Given the description of an element on the screen output the (x, y) to click on. 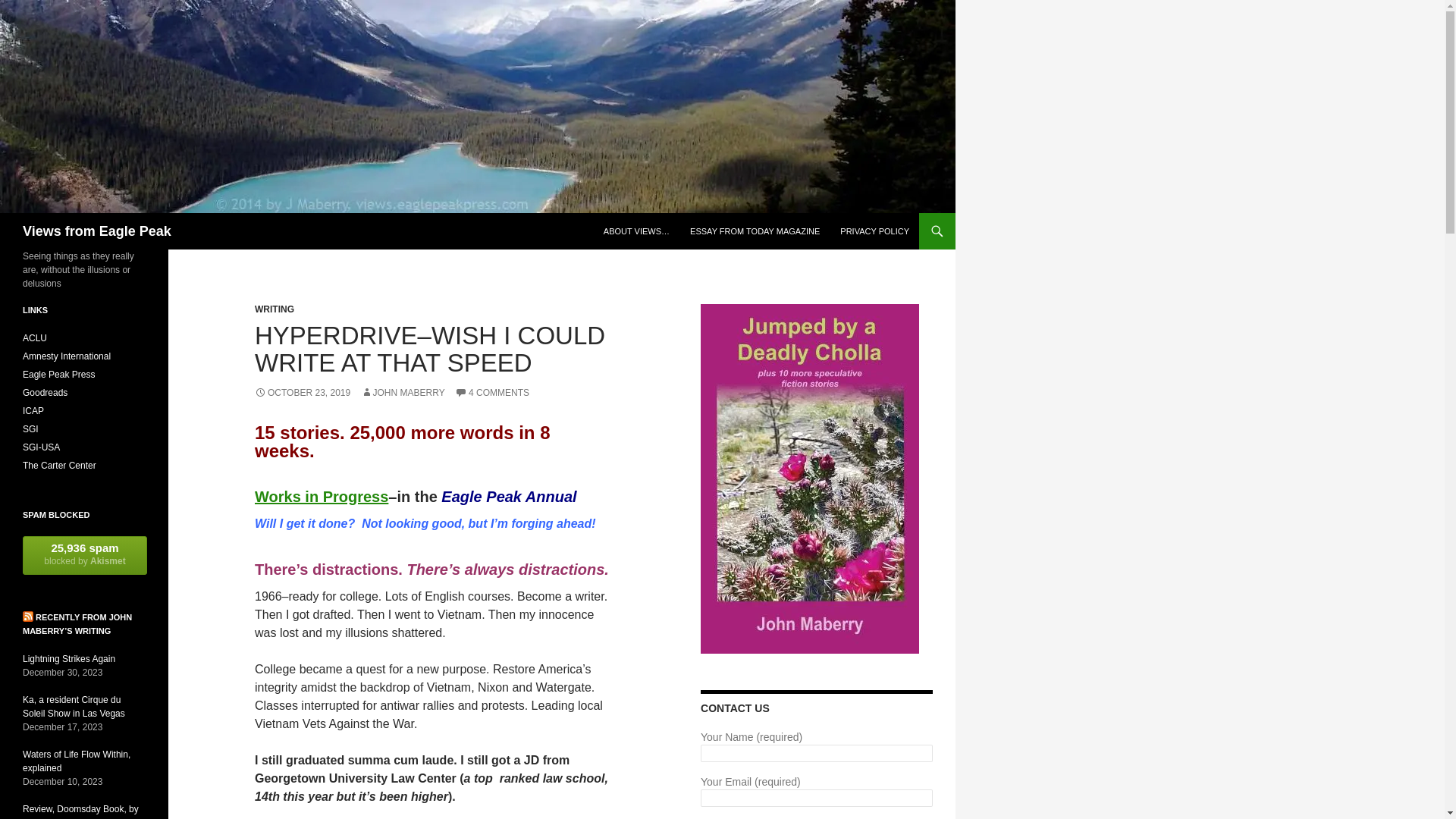
JOHN MABERRY (403, 392)
4 COMMENTS (491, 392)
PRIVACY POLICY (874, 230)
Works in Progress (321, 496)
Views from Eagle Peak (97, 230)
